Given the description of an element on the screen output the (x, y) to click on. 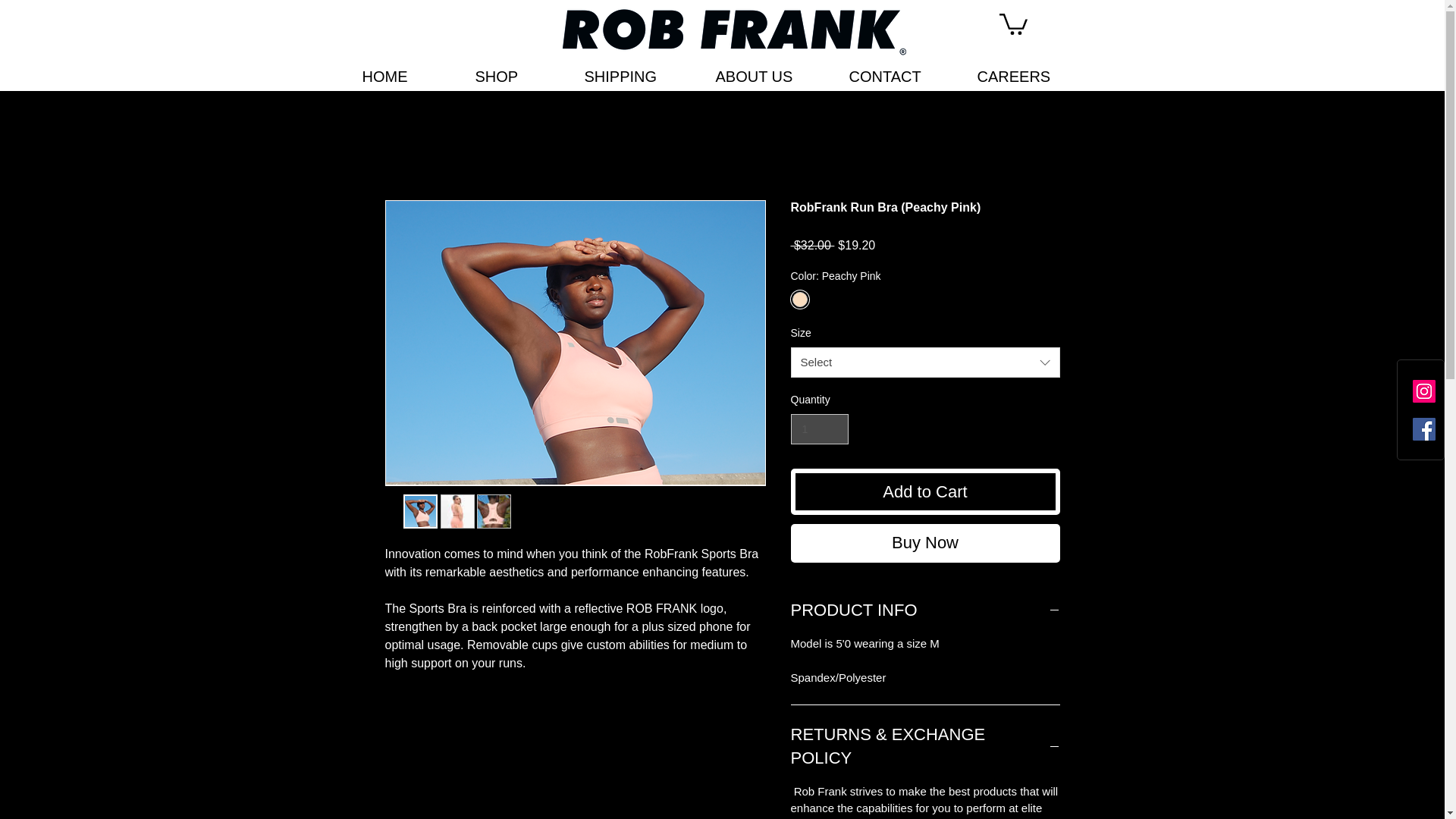
Buy Now (924, 543)
Select (924, 362)
SHIPPING (638, 76)
Add to Cart (924, 491)
CONTACT (901, 76)
HOME (406, 76)
PRODUCT INFO (924, 610)
1 (818, 429)
ABOUT US (770, 76)
